Given the description of an element on the screen output the (x, y) to click on. 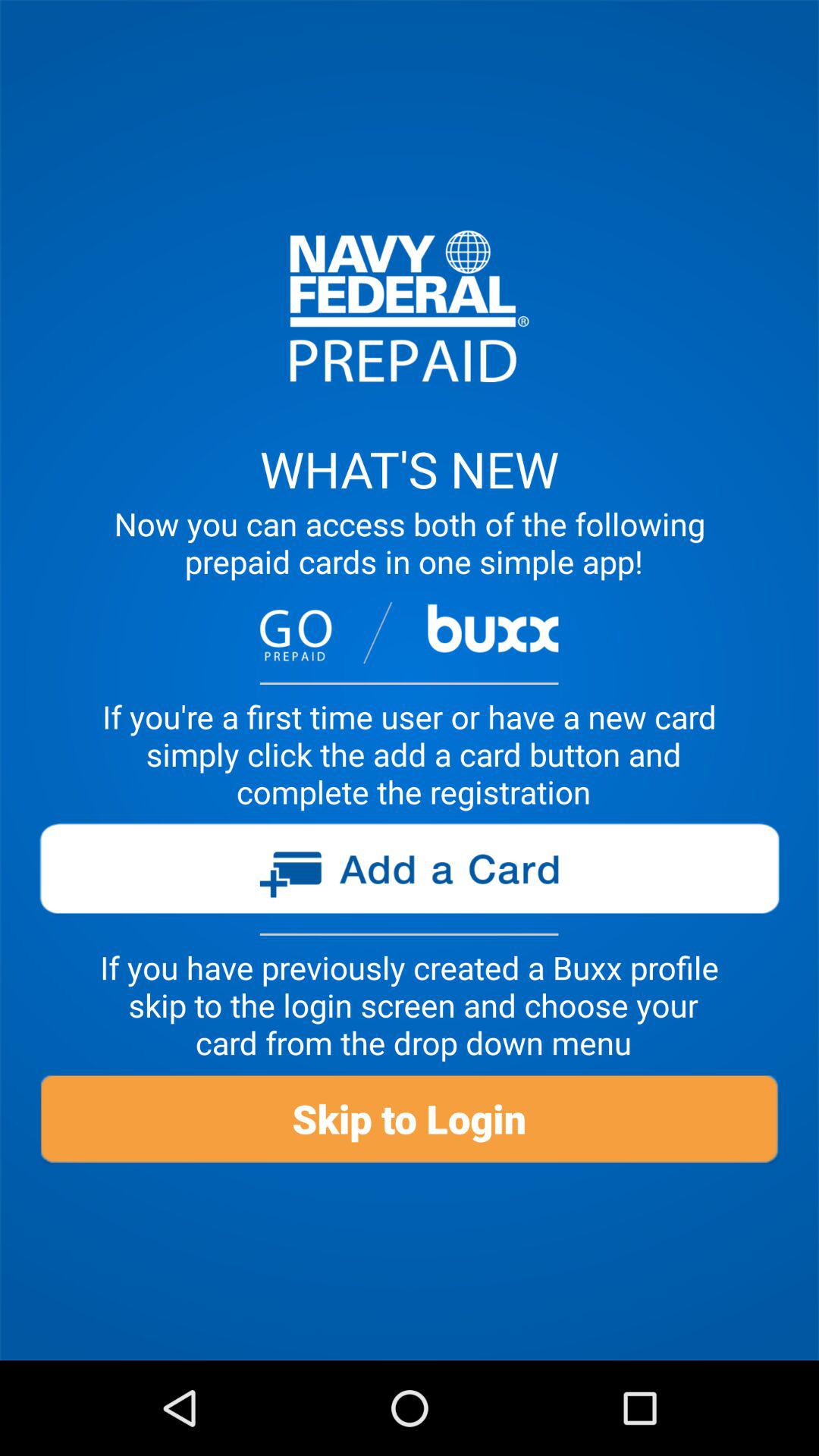
add payment information (408, 874)
